Given the description of an element on the screen output the (x, y) to click on. 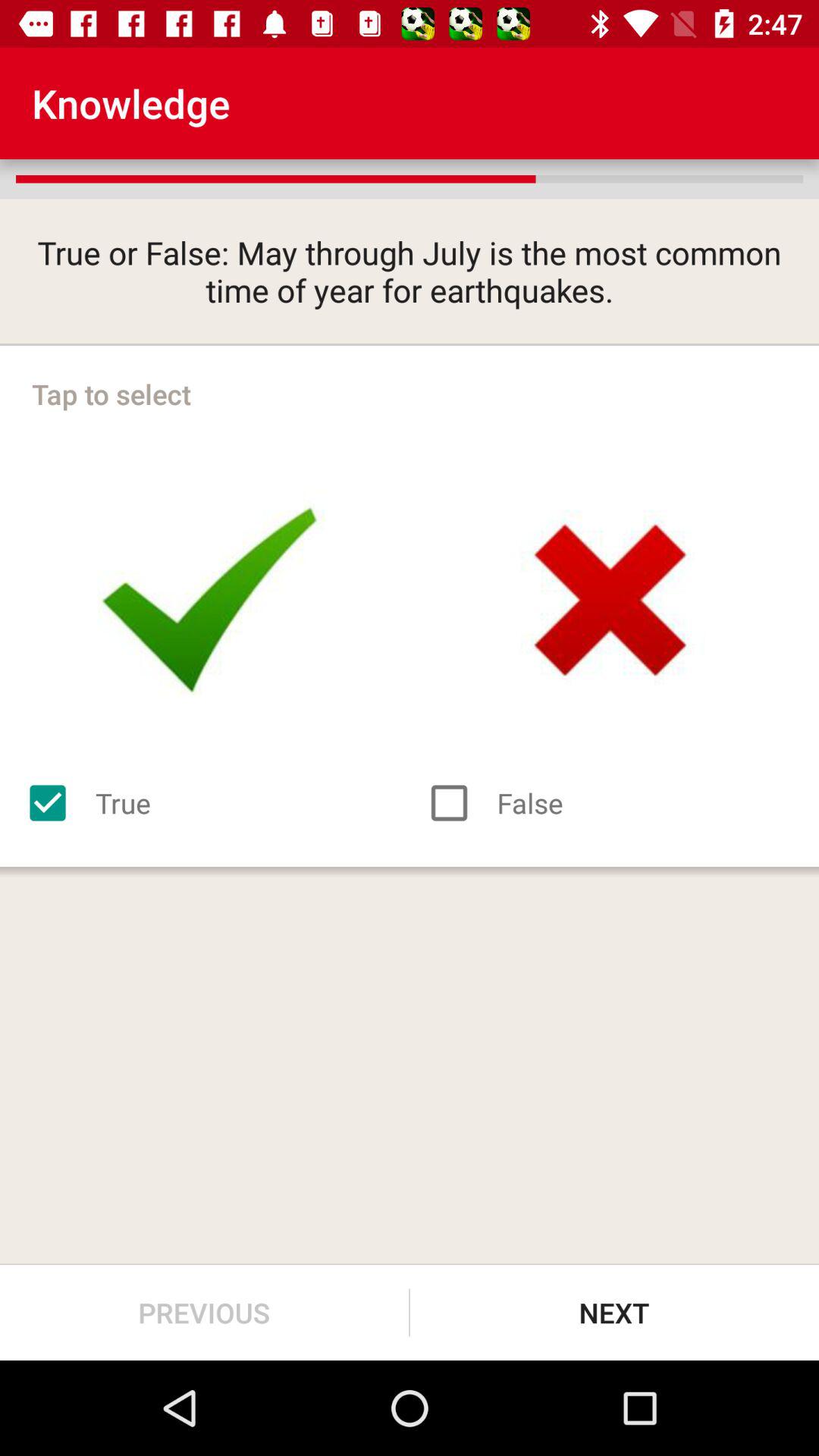
scroll until the previous item (204, 1312)
